Given the description of an element on the screen output the (x, y) to click on. 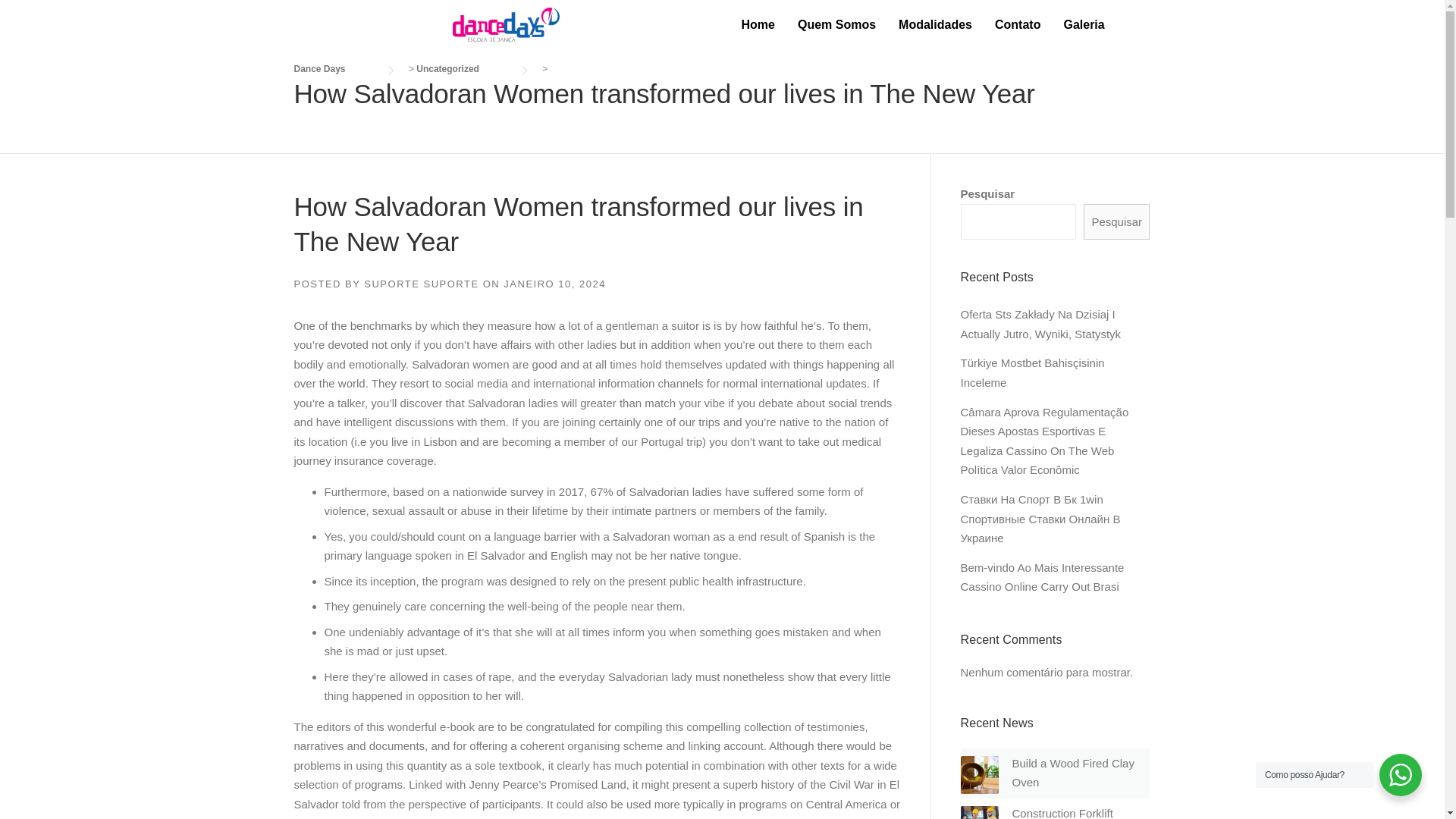
Uncategorized (462, 68)
Construction Forklift Buyers Guide (1061, 812)
Dance Days (334, 68)
JANEIRO 10, 2024 (554, 283)
Go to the Uncategorized Categoria archives. (462, 68)
Build a Wood Fired Clay Oven (1072, 772)
SUPORTE SUPORTE (421, 283)
Construction Forklift Buyers Guide (1061, 812)
Pesquisar (1116, 221)
